Given the description of an element on the screen output the (x, y) to click on. 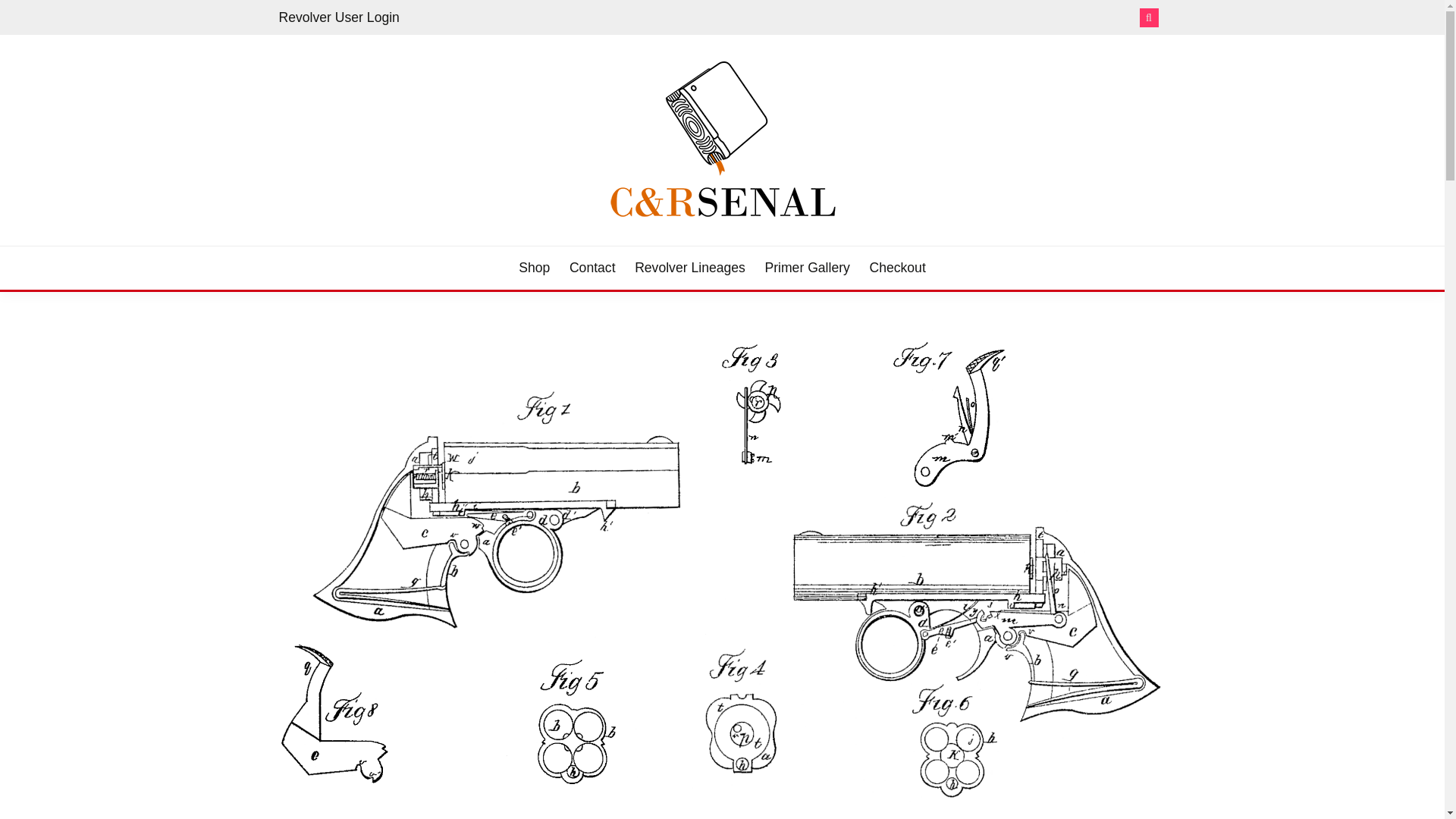
Revolver User Login (338, 17)
Search (832, 18)
Checkout (896, 267)
Contact (592, 267)
Revolver Lineages (689, 267)
Primer Gallery (806, 267)
Shop (534, 267)
